Given the description of an element on the screen output the (x, y) to click on. 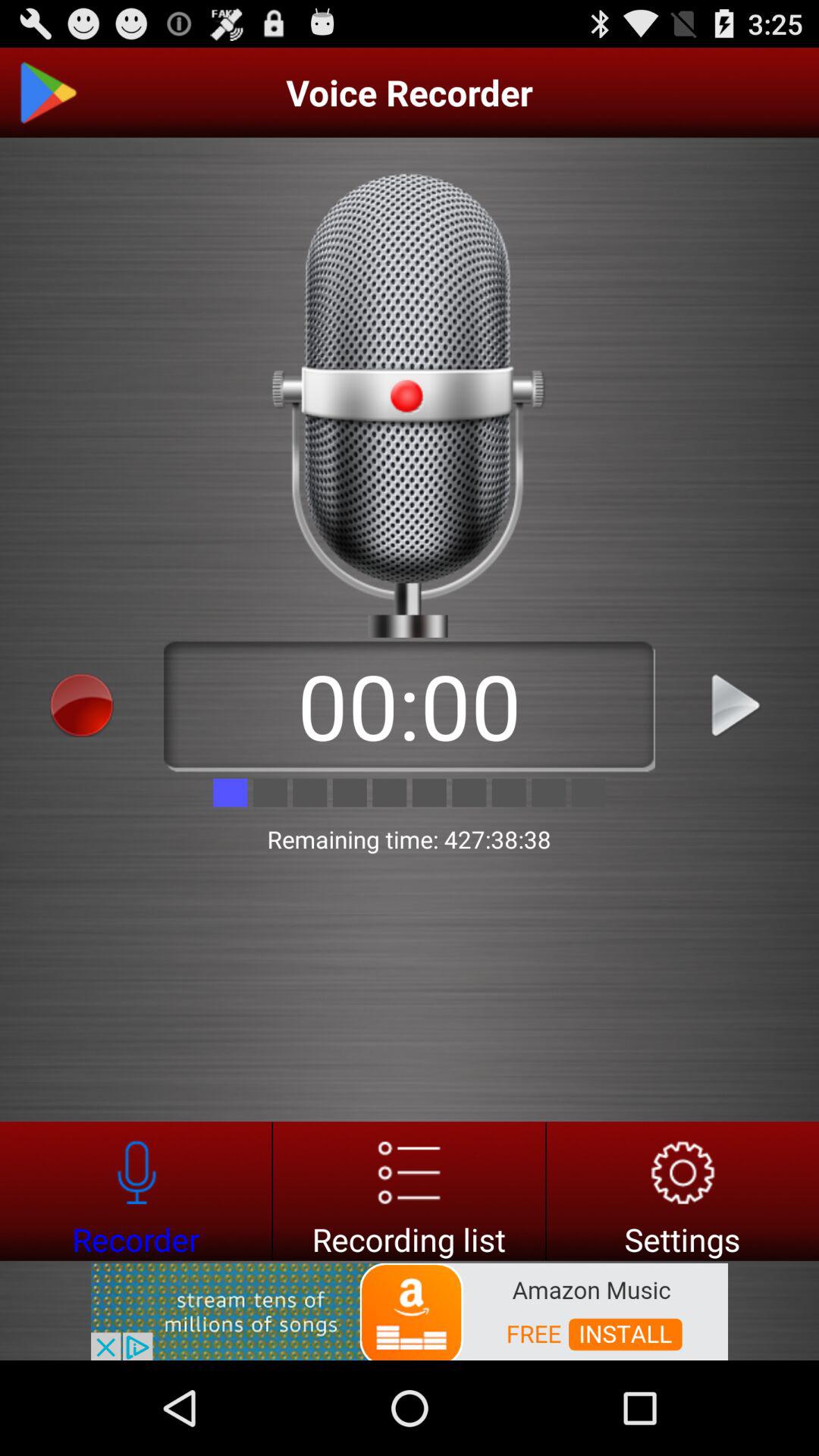
go to record (409, 1190)
